Given the description of an element on the screen output the (x, y) to click on. 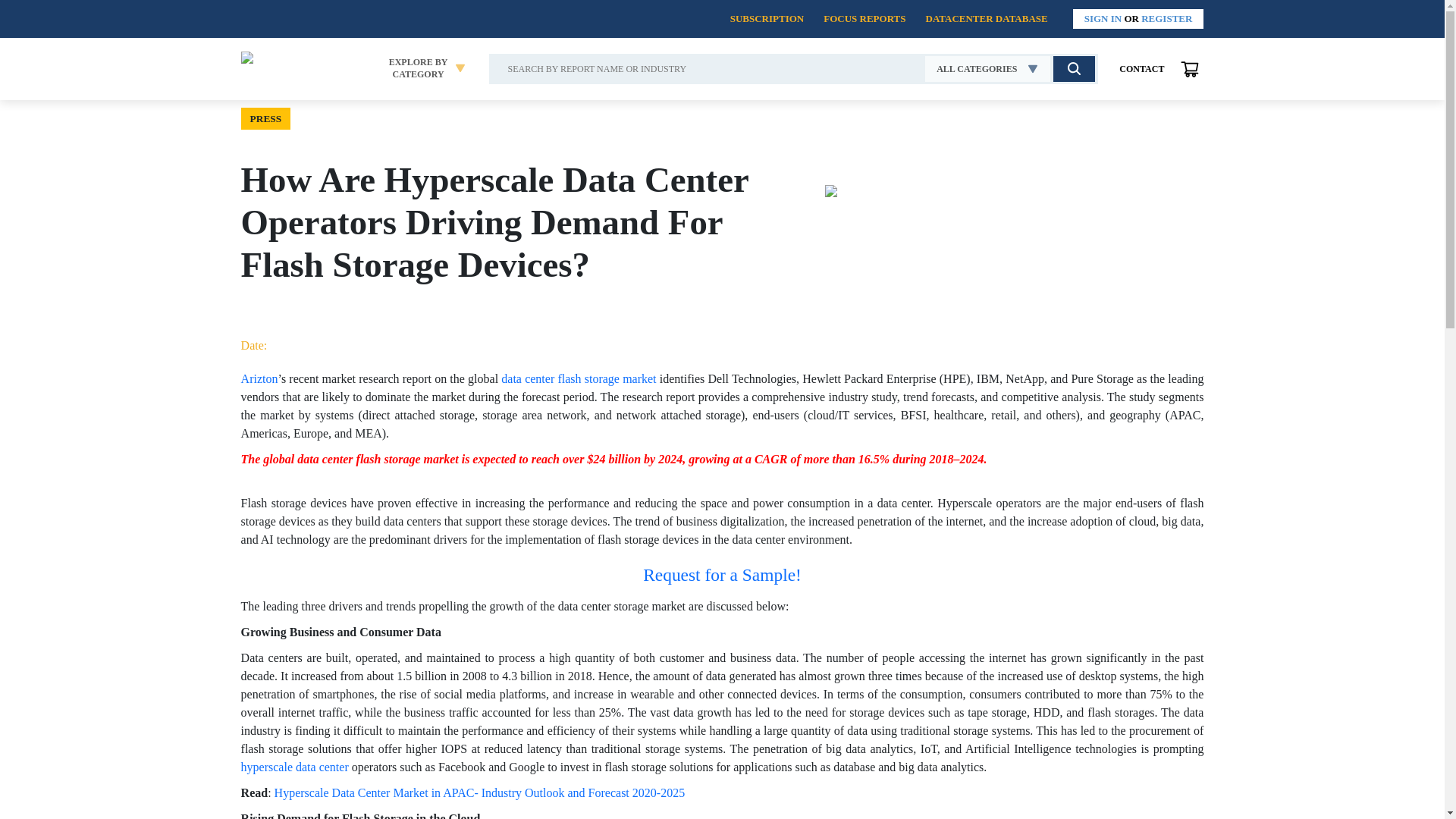
SIGN IN (1103, 18)
CONTACT (1141, 69)
FOCUS REPORTS (864, 18)
data center flash storage market (578, 378)
DATACENTER DATABASE (986, 18)
REGISTER (1166, 18)
Request for a Sample! (722, 574)
Arizton (259, 378)
hyperscale data center (418, 68)
ALL CATEGORIES (296, 766)
SUBSCRIPTION (986, 68)
